Given the description of an element on the screen output the (x, y) to click on. 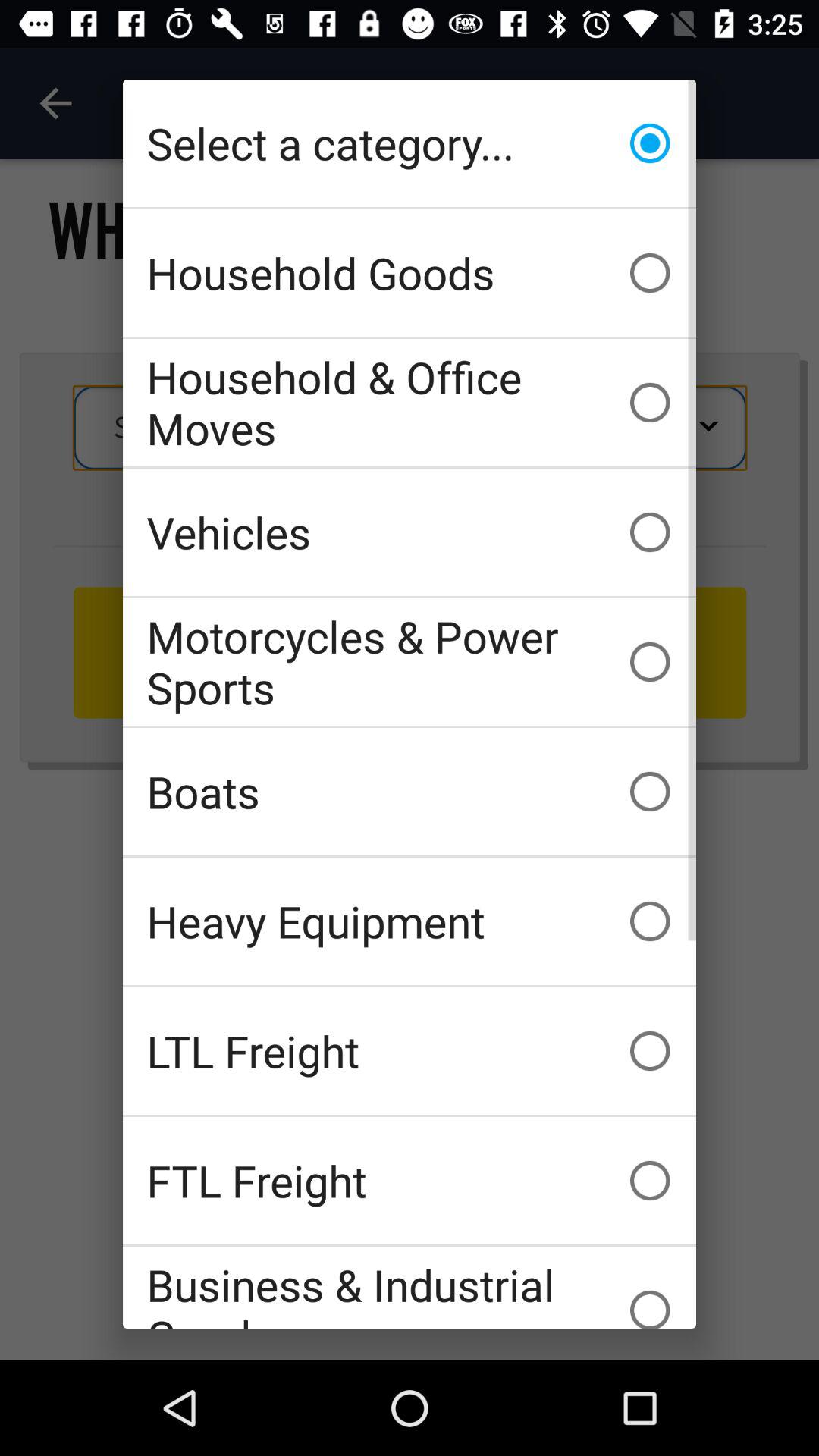
turn on the icon above household goods item (409, 143)
